Given the description of an element on the screen output the (x, y) to click on. 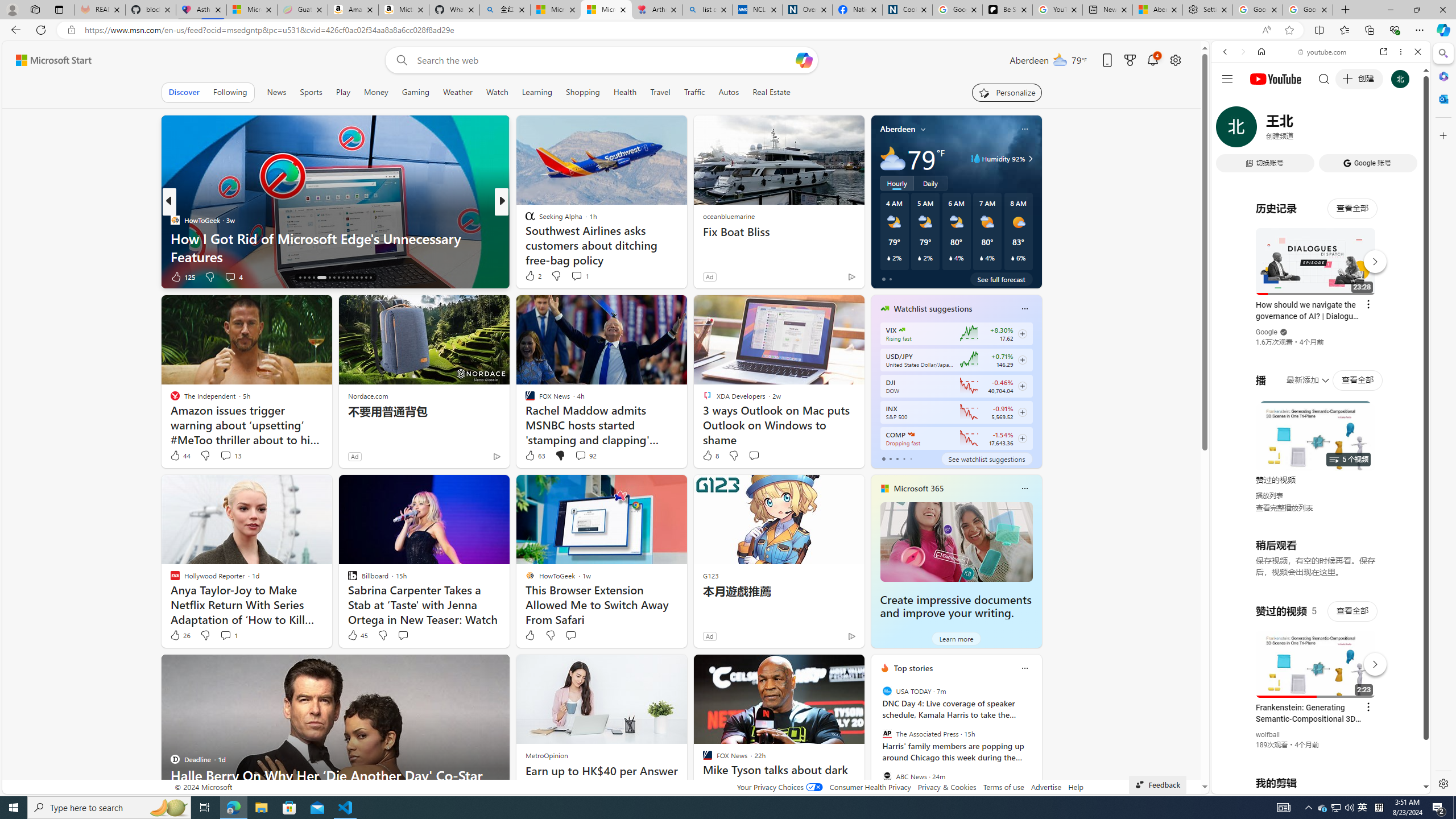
NASDAQ (910, 434)
View comments 13 Comment (230, 455)
MetroOpinion (546, 755)
AutomationID: tab-24 (343, 277)
See watchlist suggestions (986, 459)
ABC News (886, 775)
Watchlist suggestions (932, 308)
YouTube - YouTube (1315, 560)
Aberdeen (897, 128)
